Given the description of an element on the screen output the (x, y) to click on. 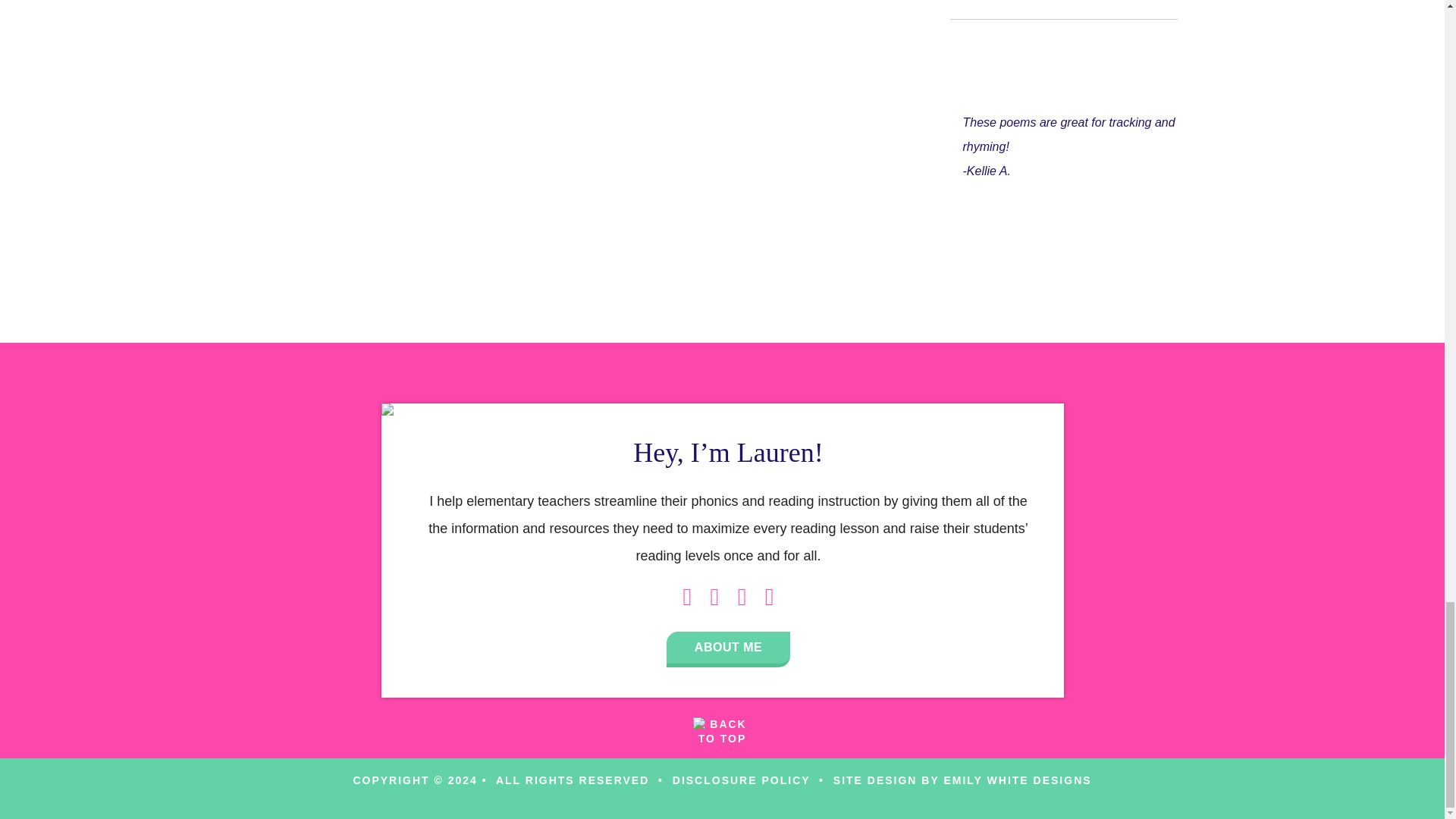
DISCLOSURE POLICY (741, 779)
Emily White Designs (1016, 779)
ABOUT ME (728, 649)
EMILY WHITE DESIGNS (1016, 779)
